Given the description of an element on the screen output the (x, y) to click on. 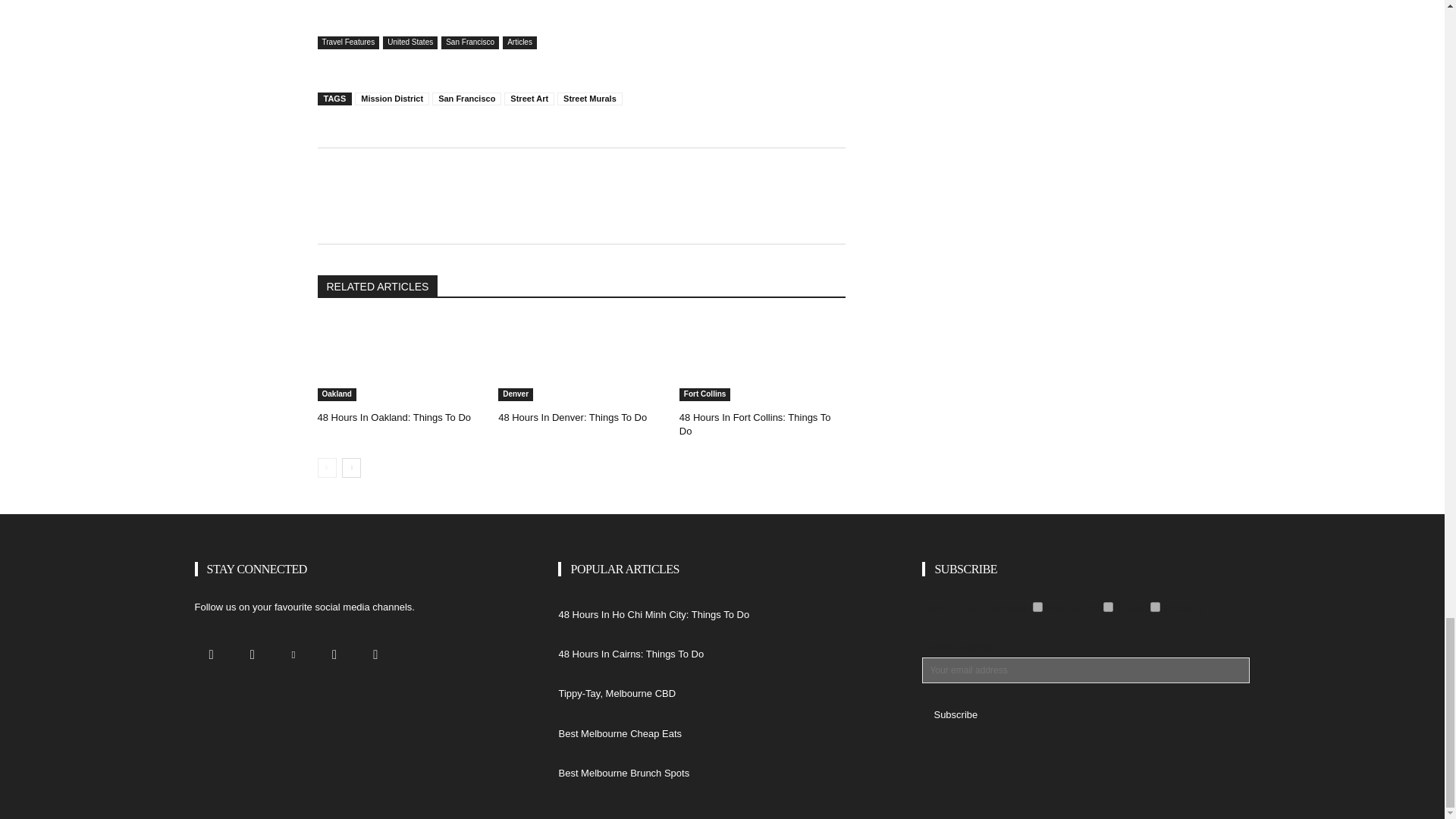
Subscribe (954, 714)
becaa84307 (1037, 606)
aa99556239 (1108, 606)
a995738985 (1155, 606)
